Given the description of an element on the screen output the (x, y) to click on. 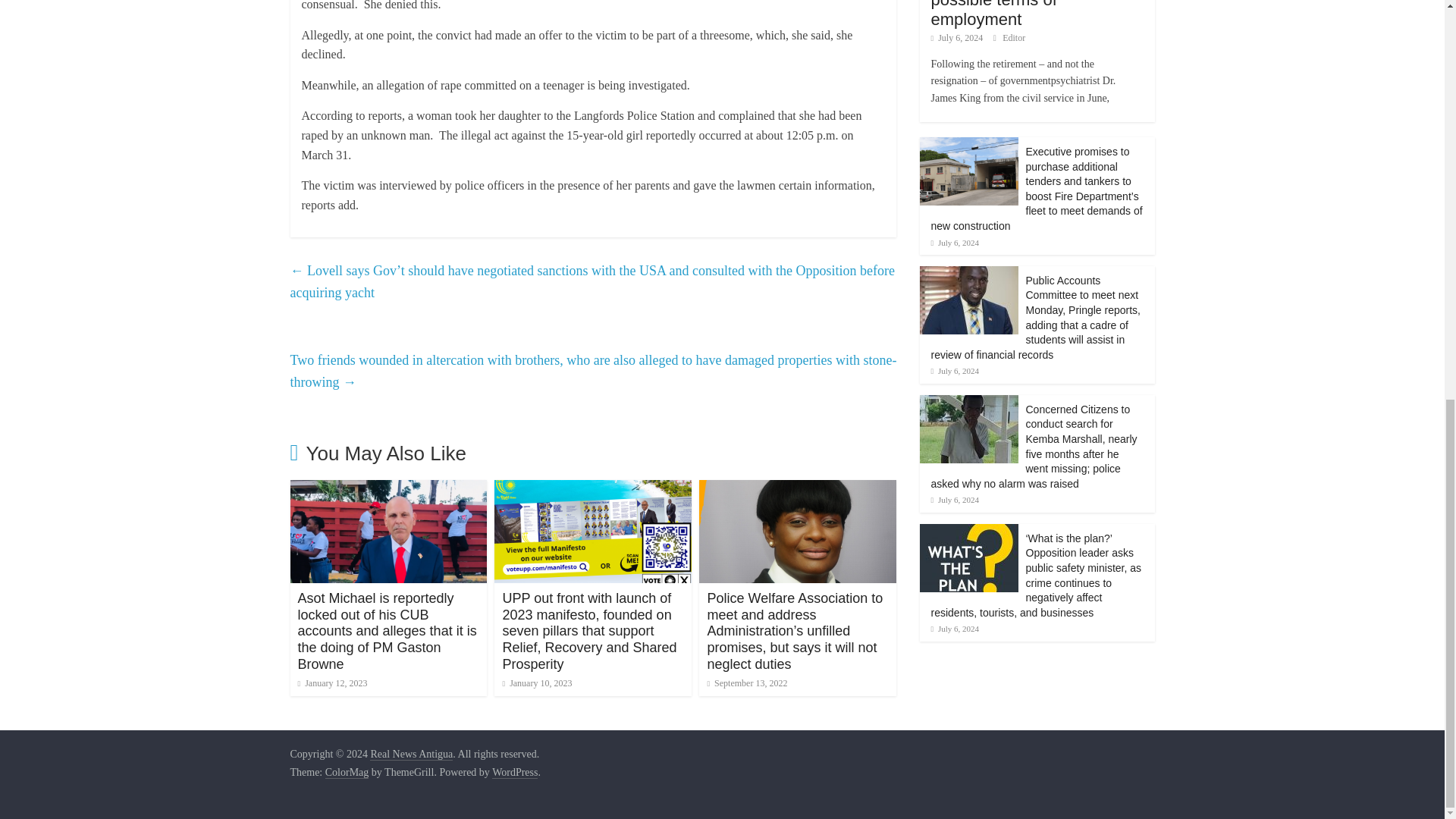
6:58 pm (331, 683)
